Given the description of an element on the screen output the (x, y) to click on. 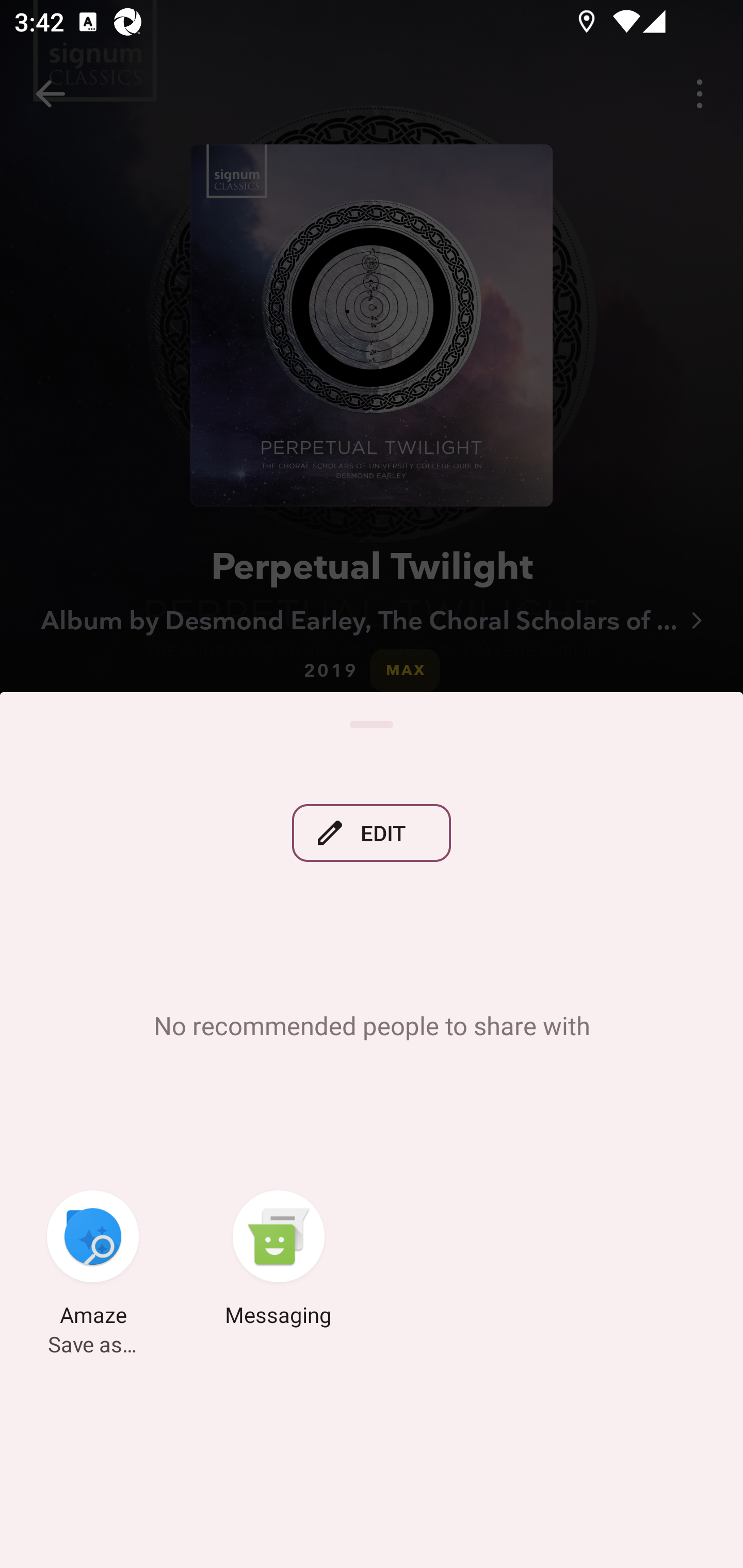
EDIT (371, 833)
Amaze Save as… (92, 1261)
Messaging (278, 1261)
